Given the description of an element on the screen output the (x, y) to click on. 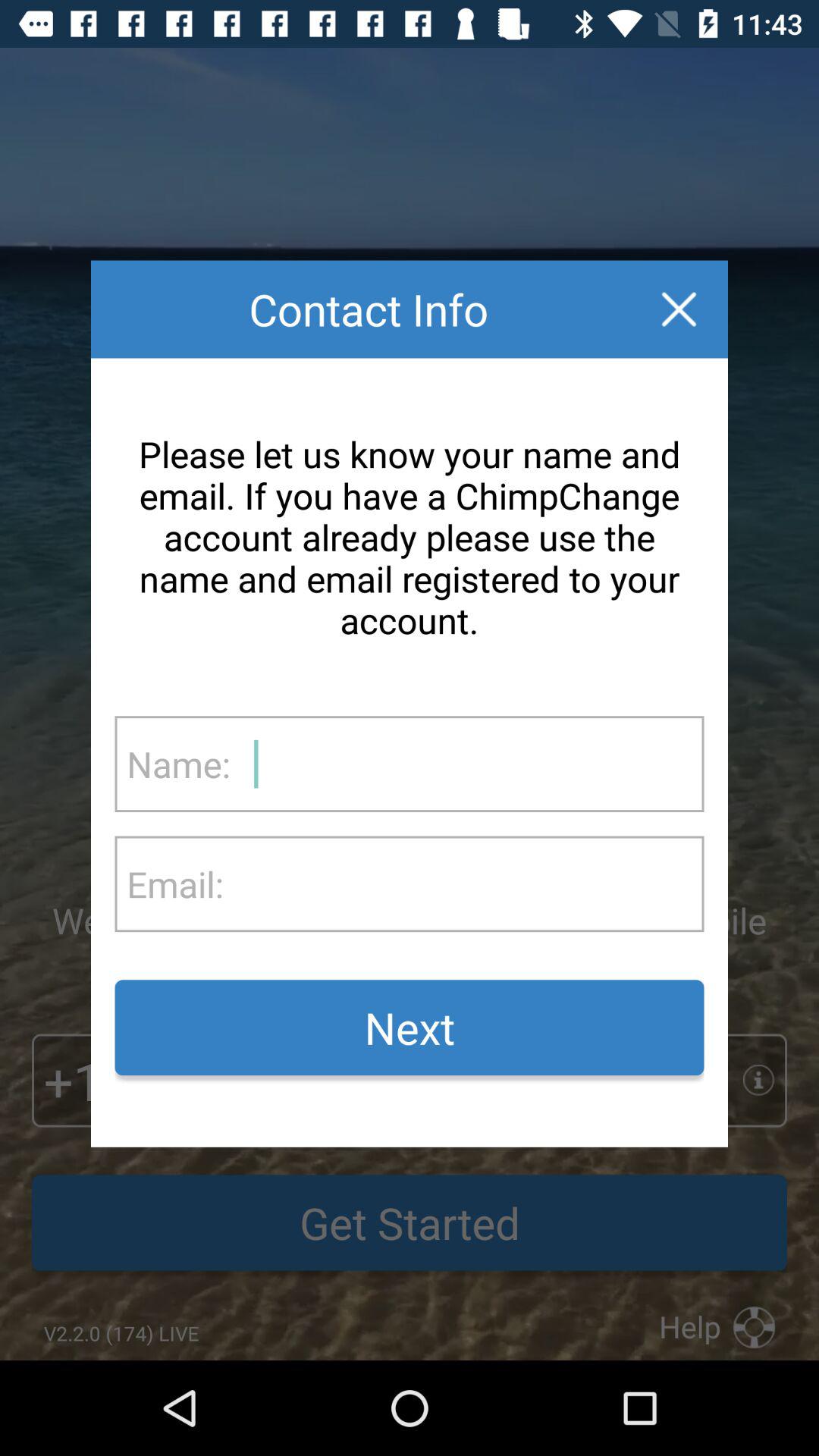
swipe until next icon (409, 1027)
